Given the description of an element on the screen output the (x, y) to click on. 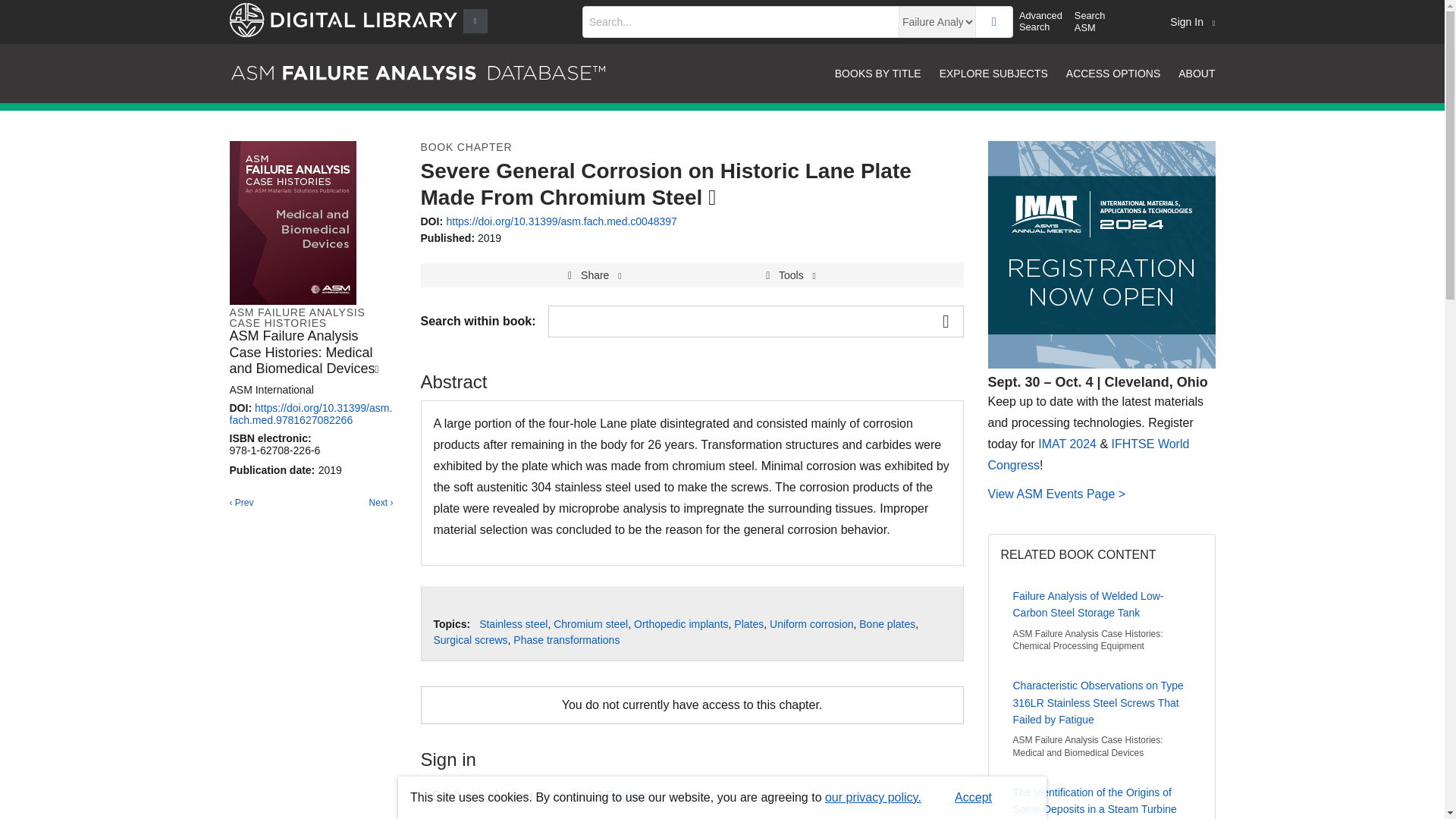
search input (740, 21)
